Given the description of an element on the screen output the (x, y) to click on. 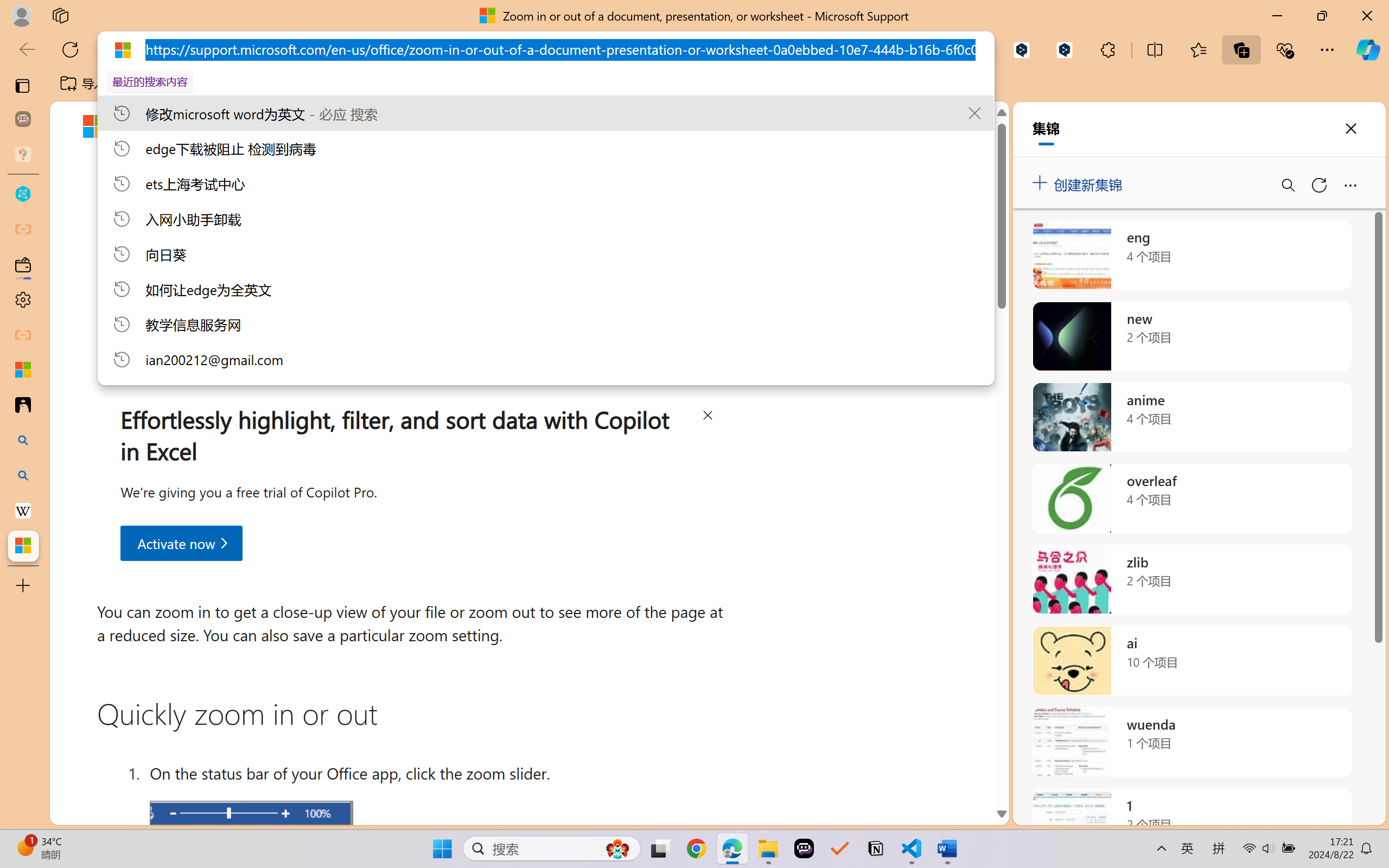
Close Ad (707, 417)
Wikipedia, the free encyclopedia (236, 83)
SJTUvpn (419, 83)
Search for help (900, 126)
